Given the description of an element on the screen output the (x, y) to click on. 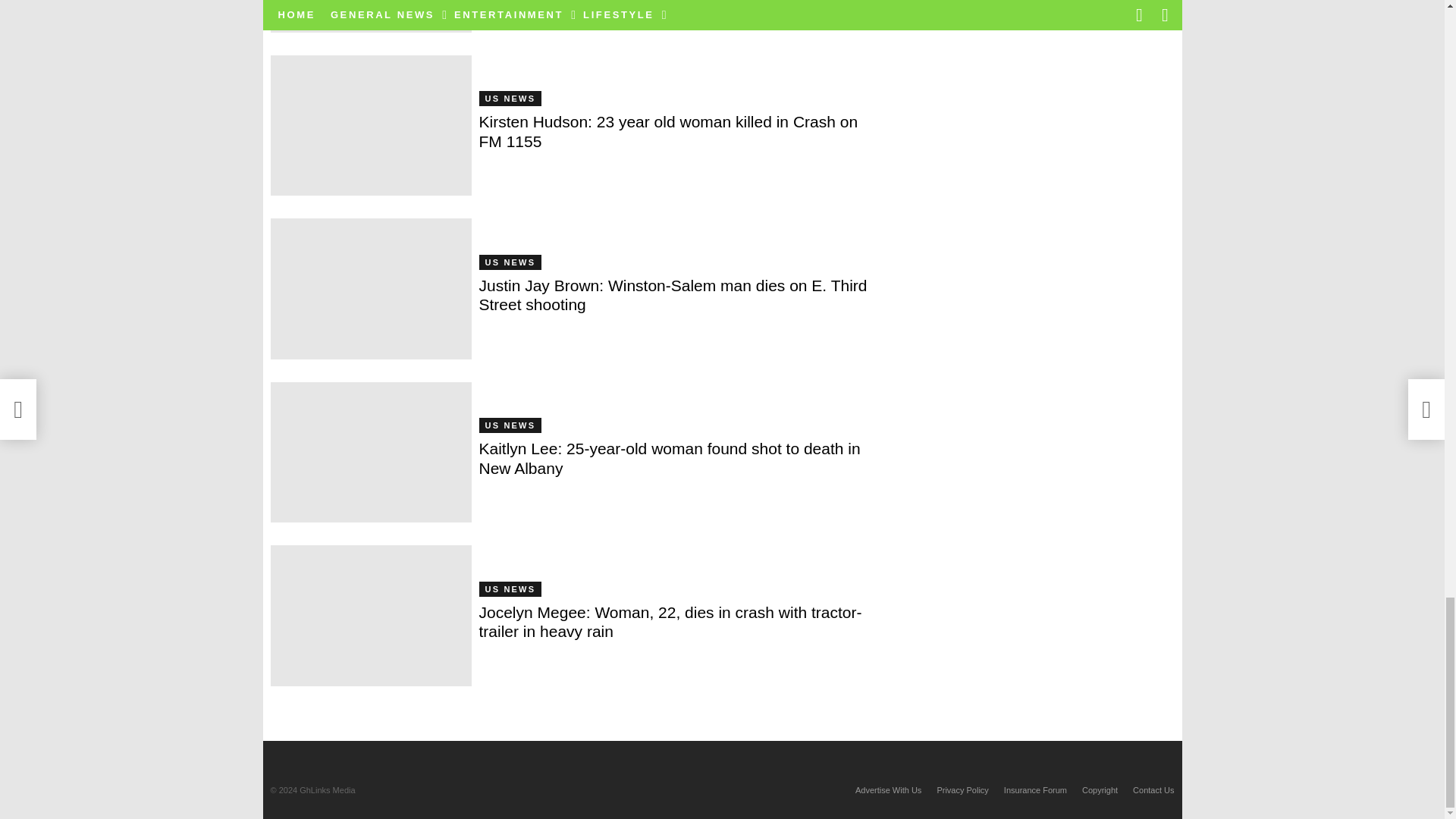
Kirsten Hudson: 23 year old woman killed in Crash on FM 1155 (369, 125)
